Given the description of an element on the screen output the (x, y) to click on. 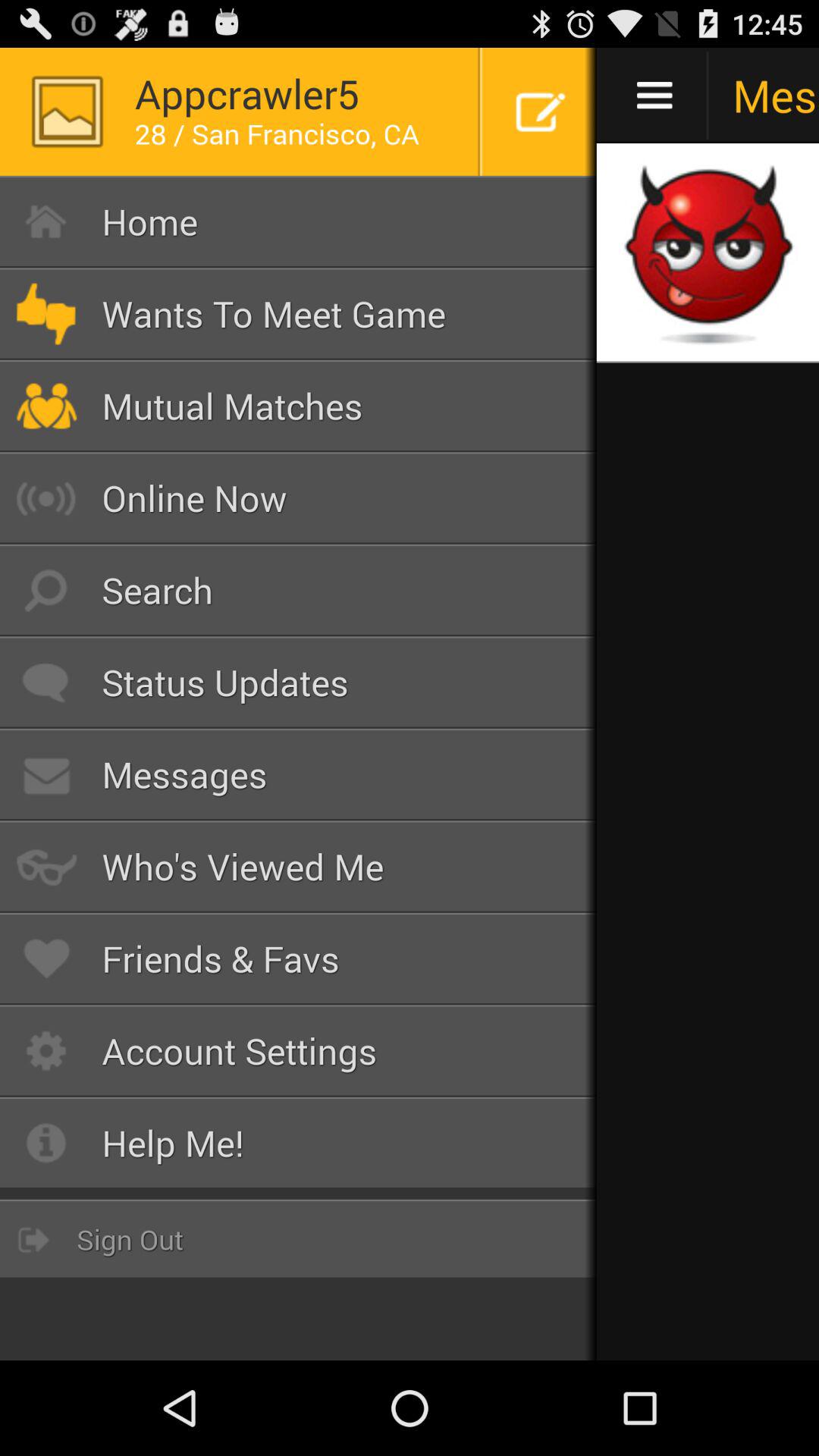
turn on the icon above the account settings button (298, 958)
